Given the description of an element on the screen output the (x, y) to click on. 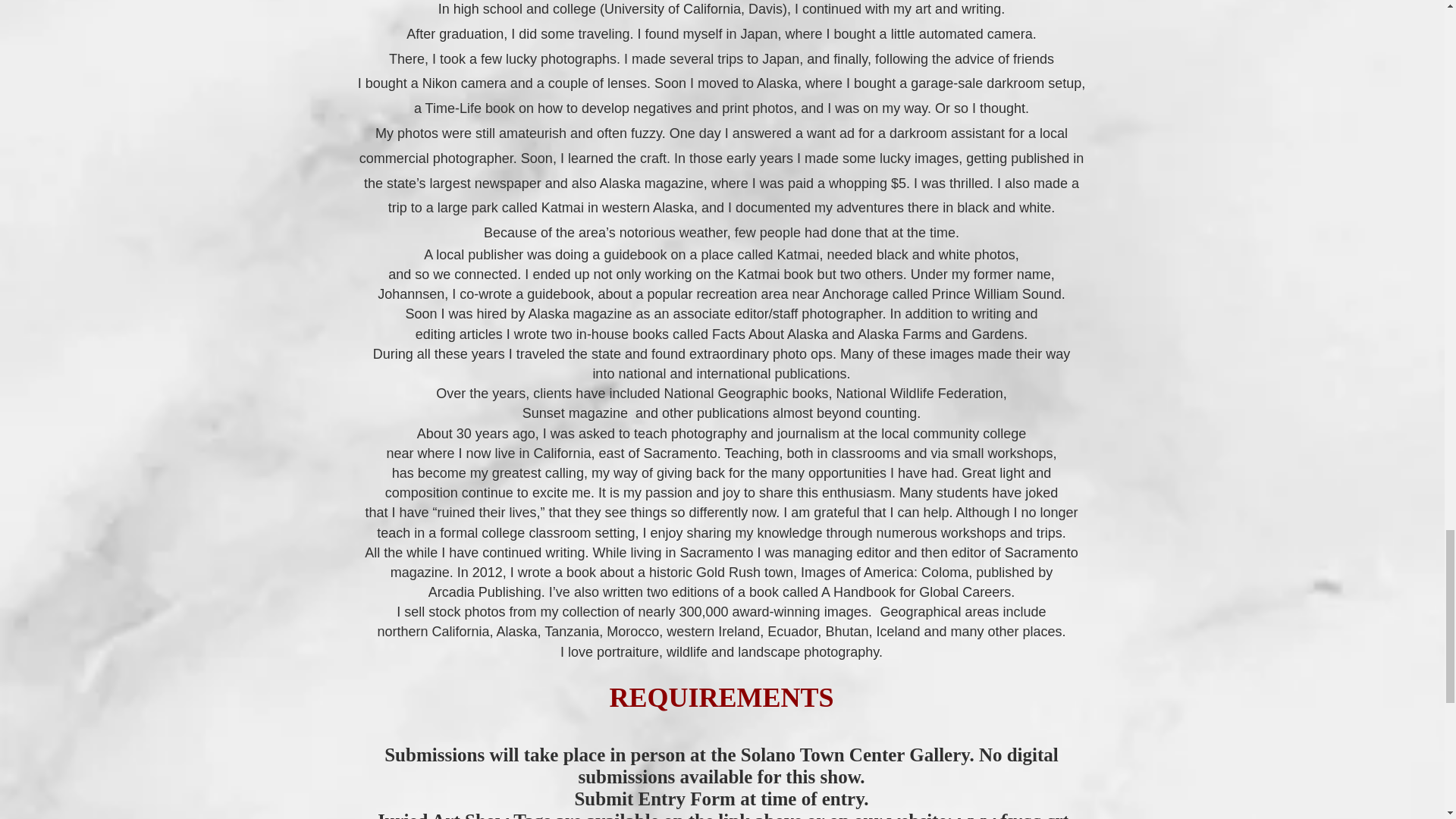
www.fsvaa.art (1012, 814)
